Given the description of an element on the screen output the (x, y) to click on. 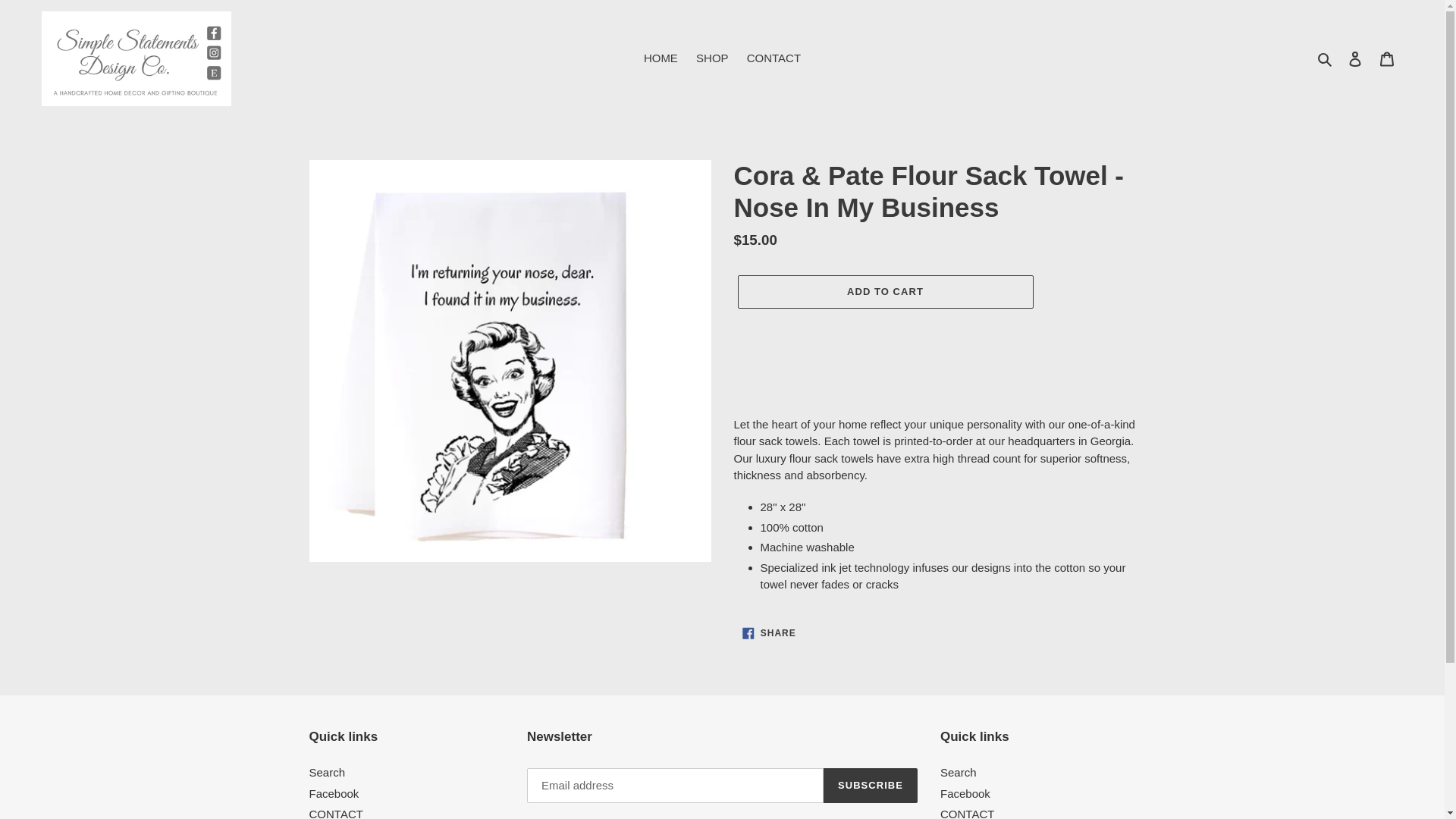
Search (958, 771)
HOME (660, 58)
Search (1326, 58)
Facebook (333, 793)
SUBSCRIBE (870, 785)
CONTACT (773, 58)
CONTACT (967, 813)
SHOP (712, 58)
Log in (1355, 58)
ADD TO CART (884, 291)
Facebook (769, 632)
Search (965, 793)
Cart (327, 771)
CONTACT (1387, 58)
